Given the description of an element on the screen output the (x, y) to click on. 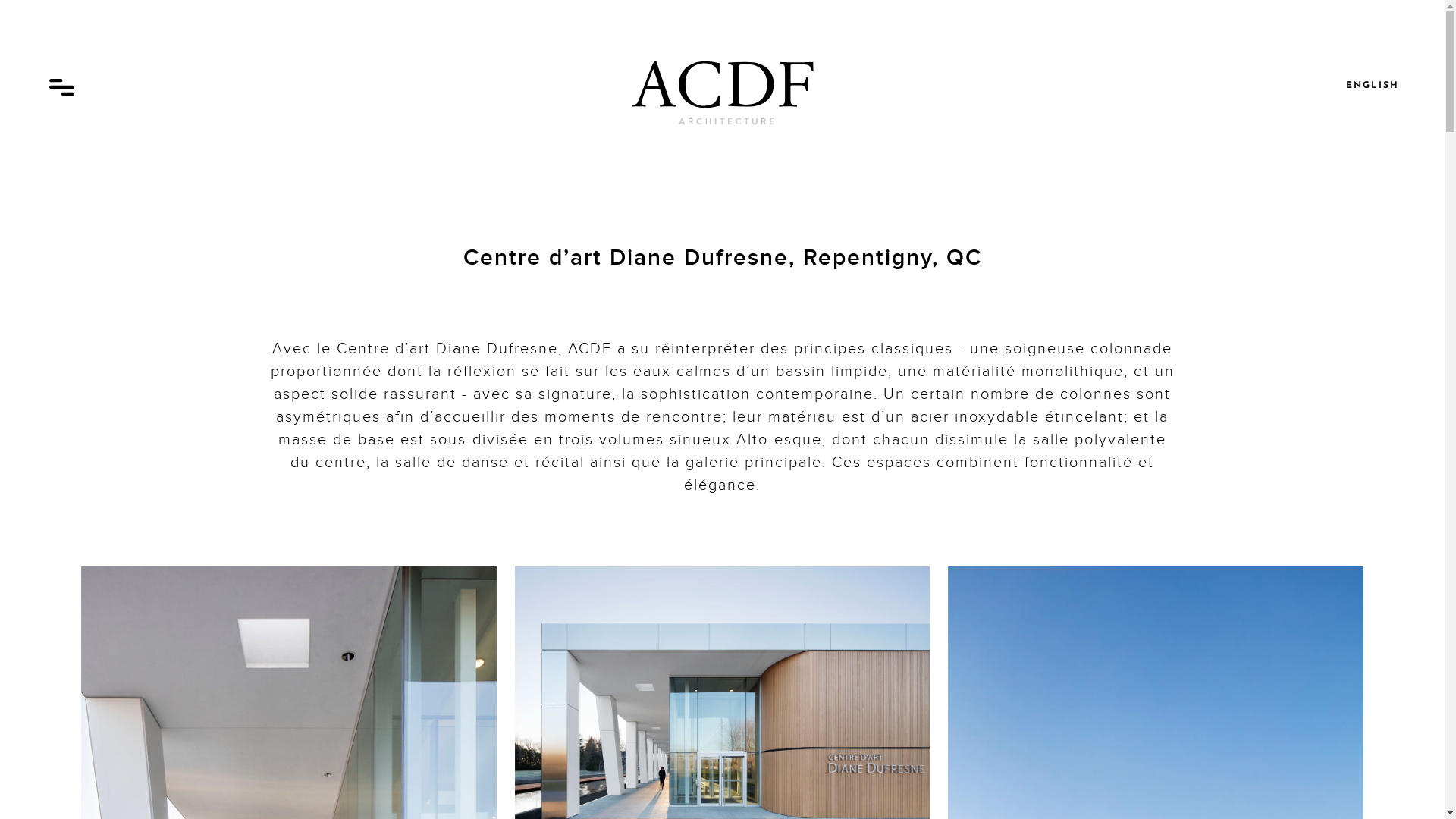
ENGLISH Element type: text (1372, 85)
